Given the description of an element on the screen output the (x, y) to click on. 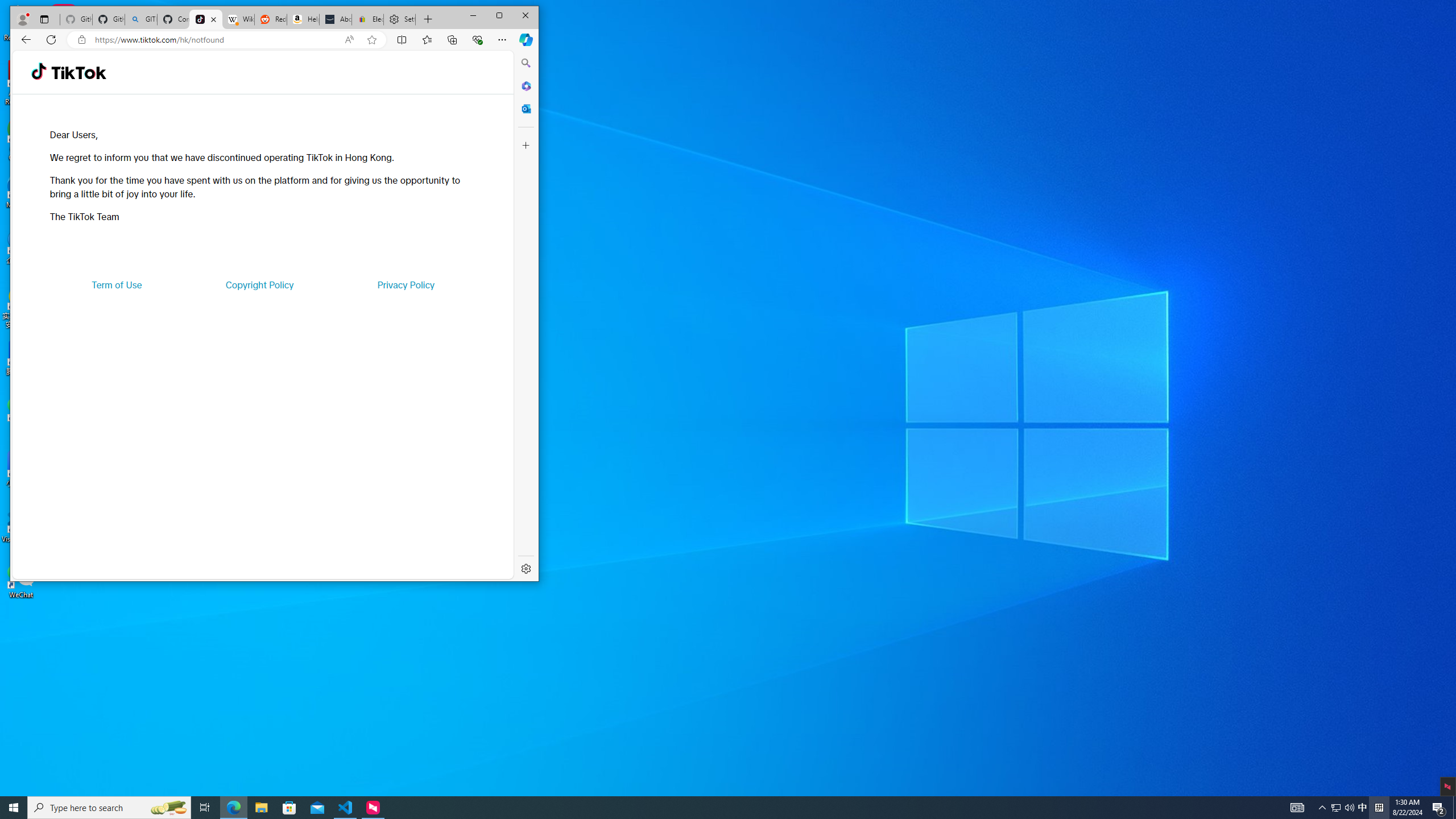
File Explorer (261, 807)
Search highlights icon opens search home window (167, 807)
TikTok (205, 19)
Notification Chevron (1322, 807)
Microsoft Edge - 1 running window (233, 807)
Action Center, 2 new notifications (1439, 807)
TikTok (78, 72)
